Given the description of an element on the screen output the (x, y) to click on. 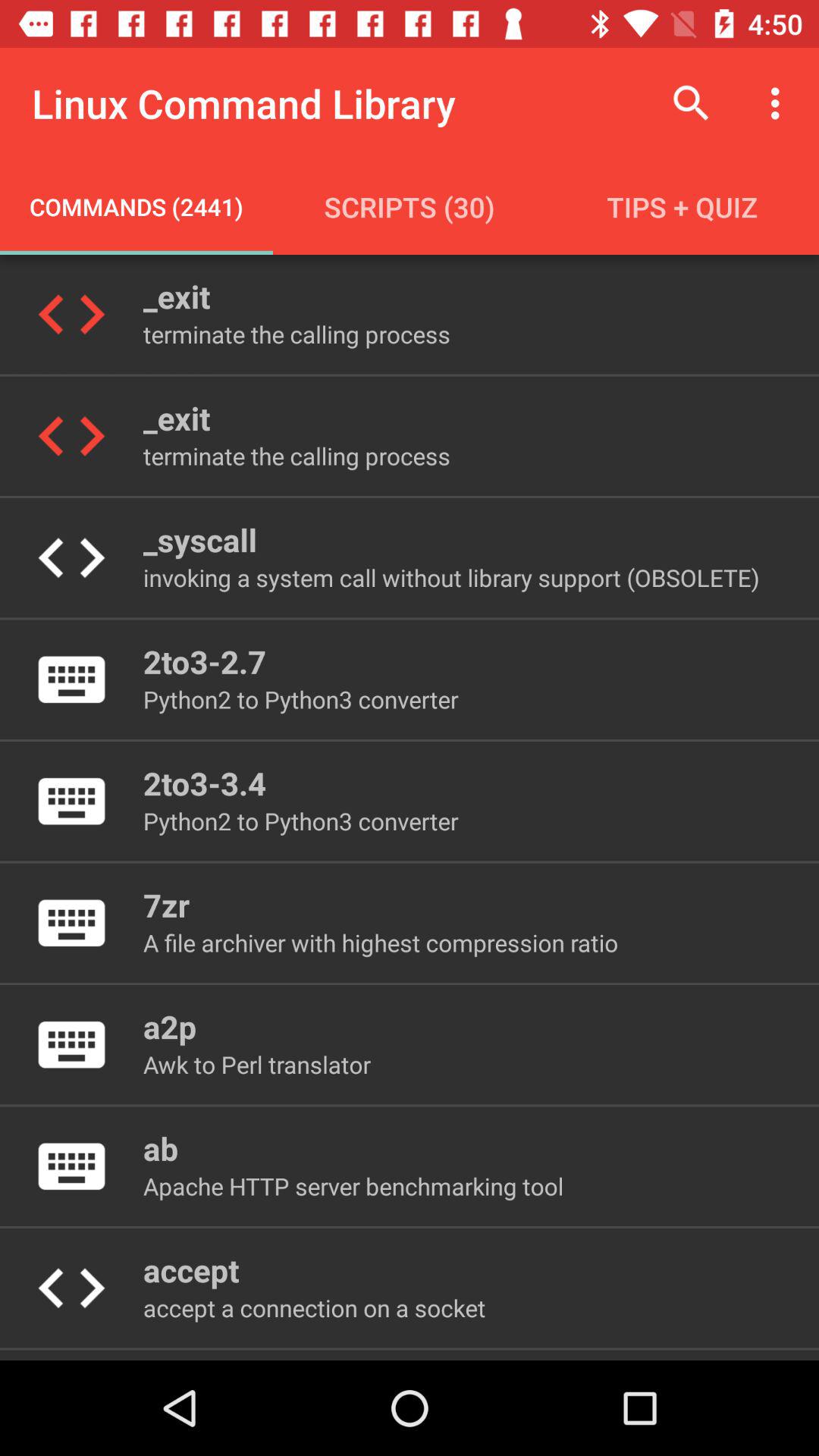
tap item to the right of linux command library item (691, 103)
